Given the description of an element on the screen output the (x, y) to click on. 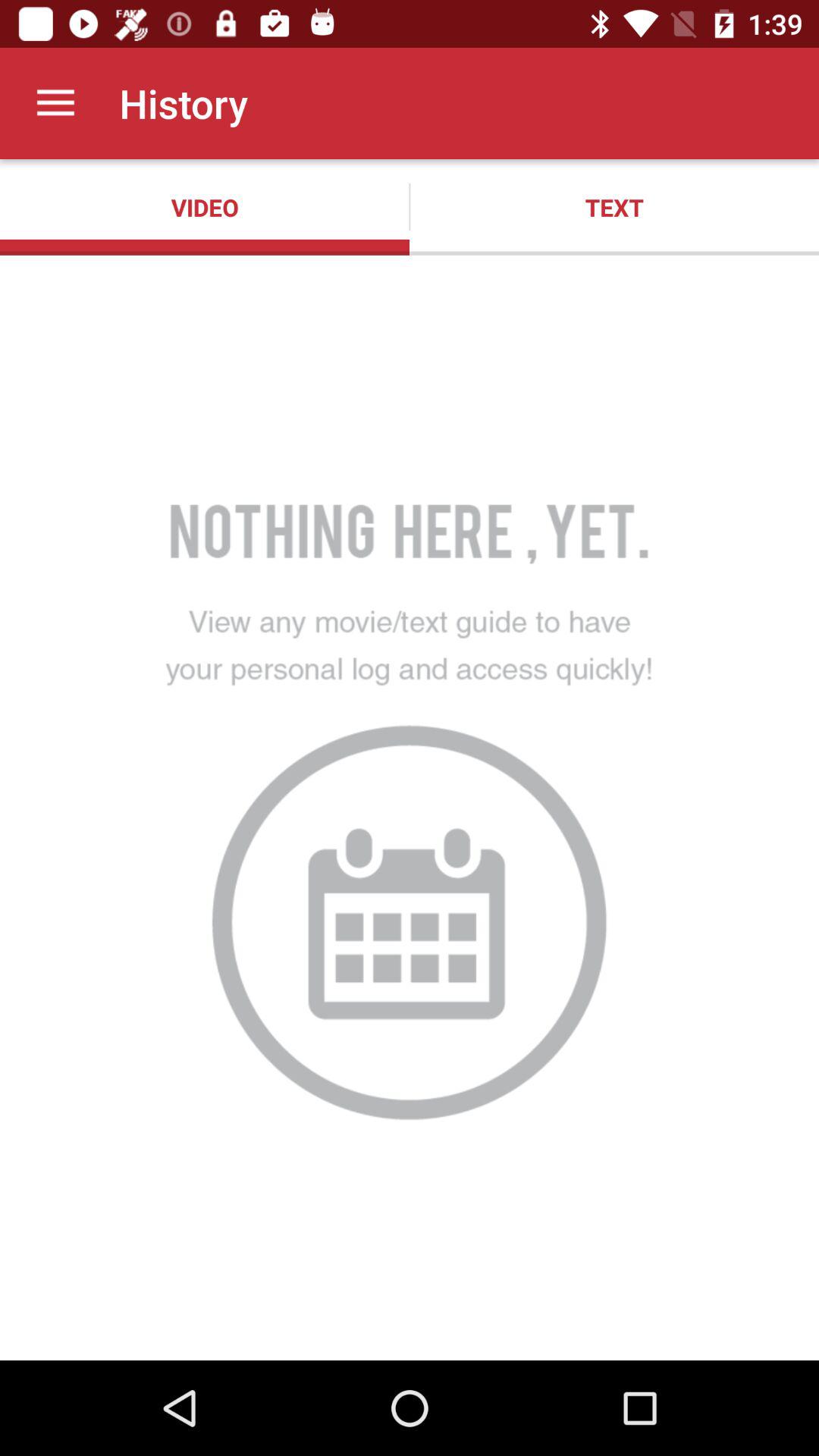
open item next to the video (614, 207)
